Given the description of an element on the screen output the (x, y) to click on. 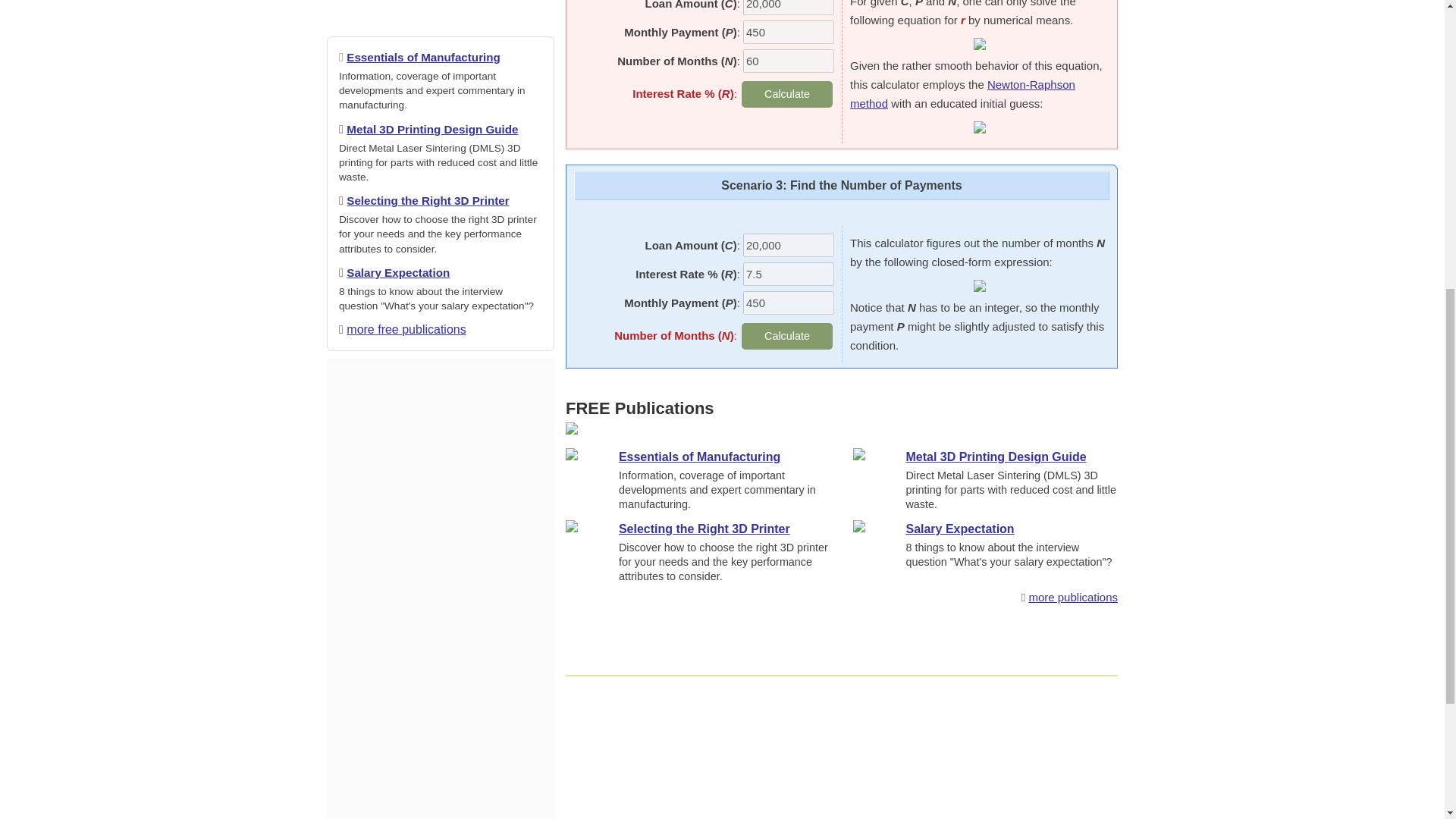
450 (788, 302)
7.5 (788, 273)
Calculate (786, 335)
20,000 (788, 7)
Salary Expectation (397, 272)
Metal 3D Printing Design Guide (432, 128)
450 (788, 32)
Selecting the Right 3D Printer (427, 200)
more free publications (405, 328)
Calculate (786, 94)
60 (788, 60)
20,000 (788, 245)
Essentials of Manufacturing (423, 56)
